Given the description of an element on the screen output the (x, y) to click on. 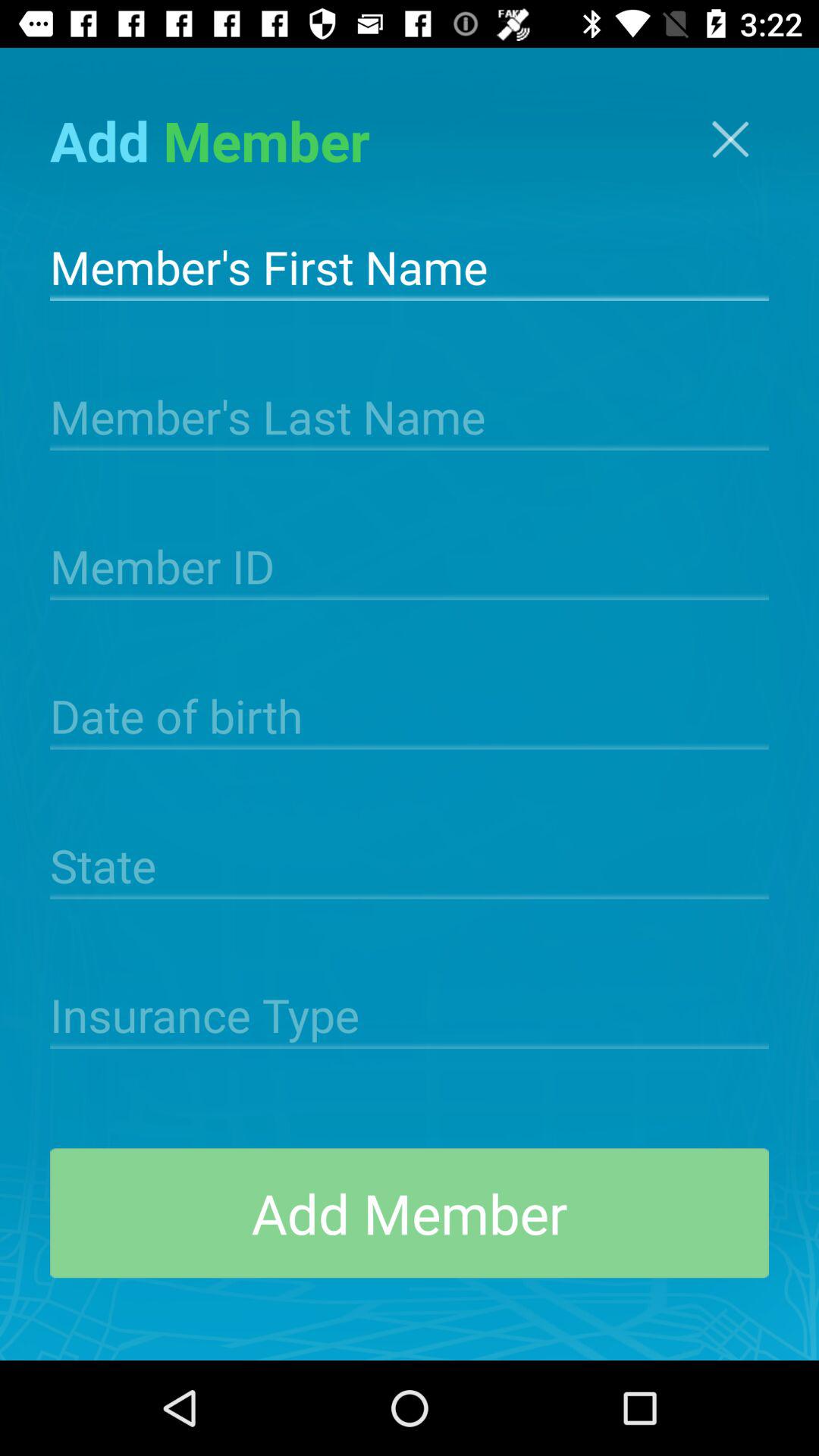
enter the member id (409, 565)
